Given the description of an element on the screen output the (x, y) to click on. 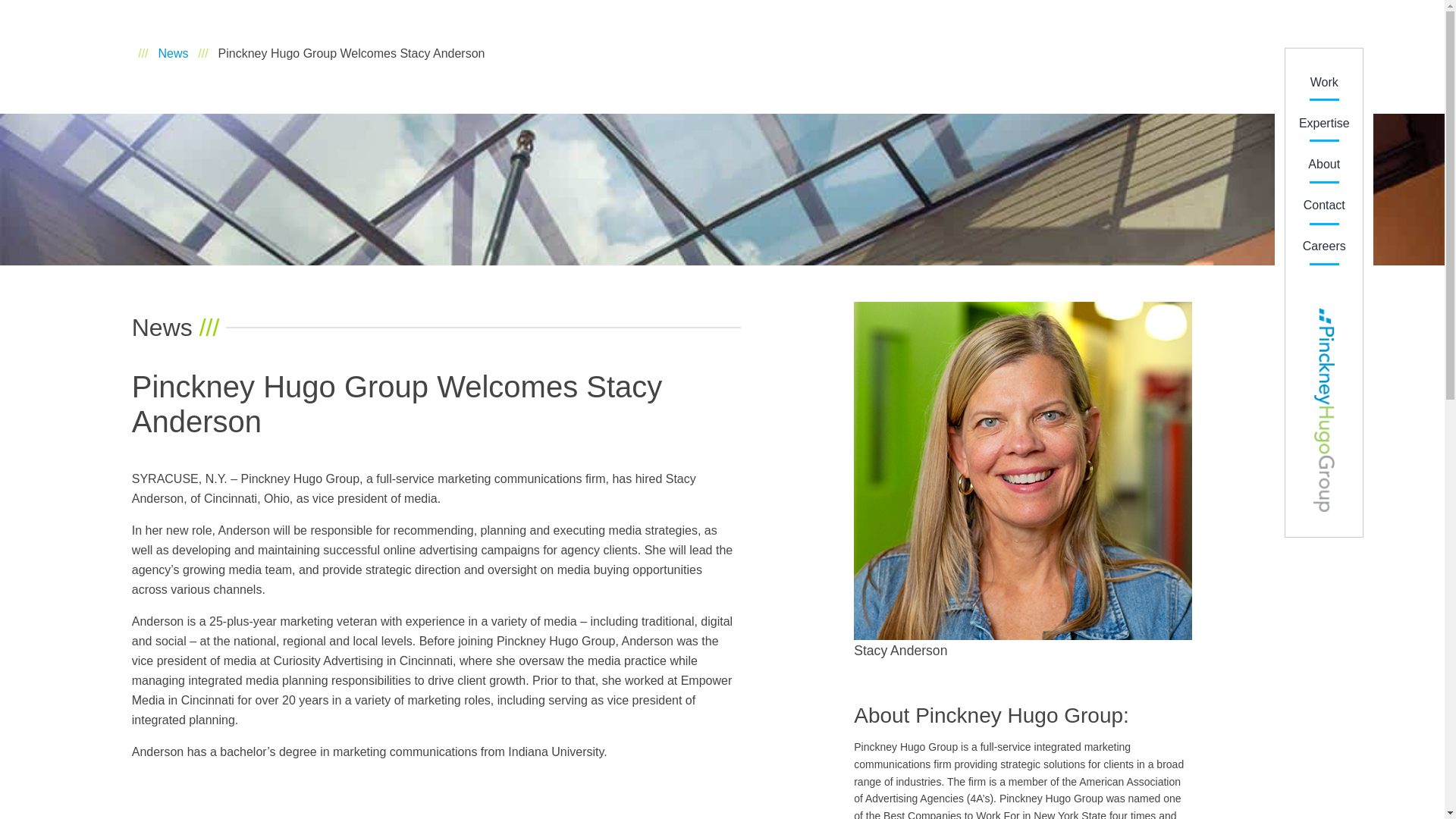
Careers (1324, 245)
Contact (1324, 205)
Work (1324, 82)
About (1323, 164)
Expertise (1323, 123)
News (172, 52)
